Given the description of an element on the screen output the (x, y) to click on. 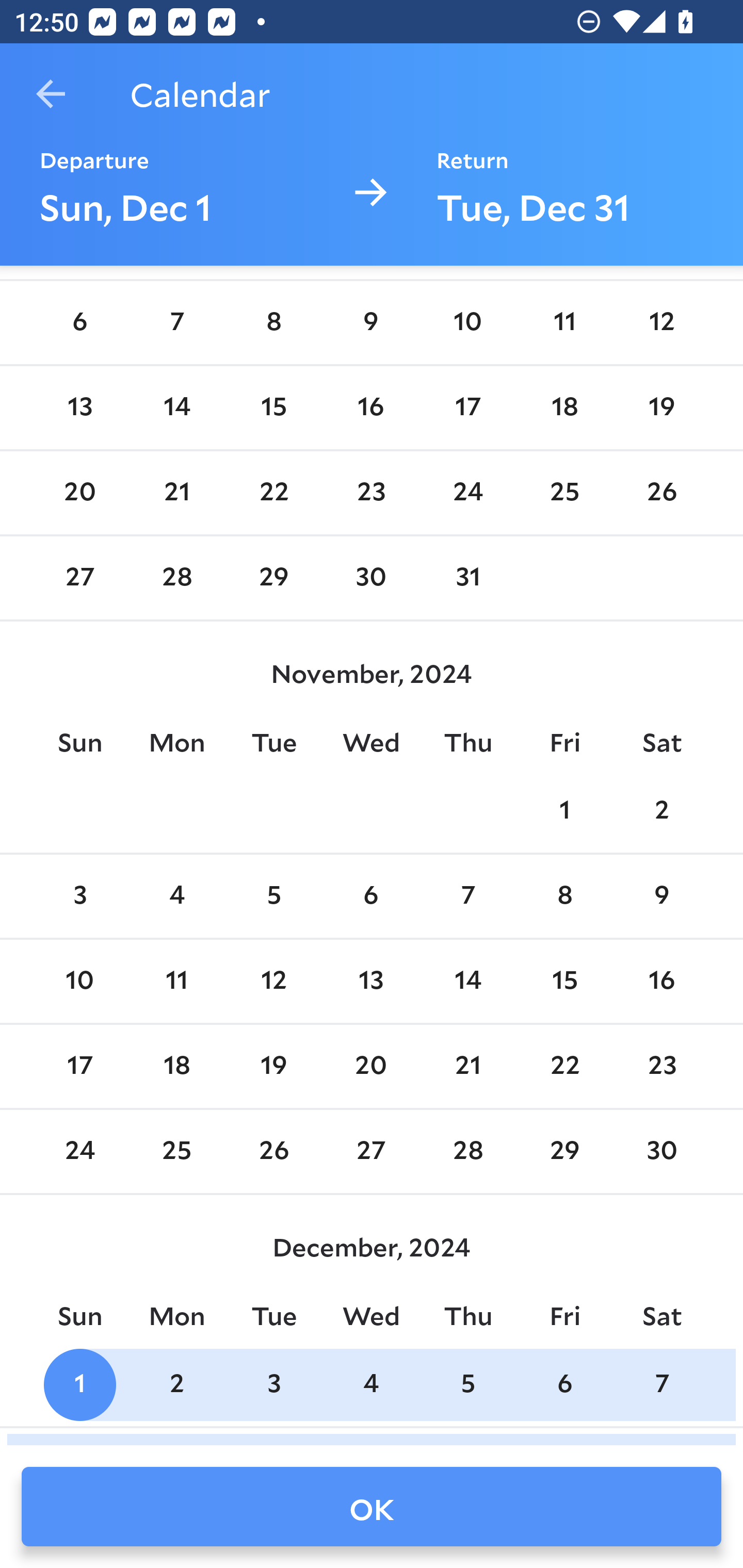
Navigate up (50, 93)
6 (79, 322)
7 (177, 322)
8 (273, 322)
9 (371, 322)
10 (467, 322)
11 (565, 322)
12 (661, 322)
13 (79, 407)
14 (177, 407)
15 (273, 407)
16 (371, 407)
17 (467, 407)
18 (565, 407)
19 (661, 407)
20 (79, 492)
21 (177, 492)
22 (273, 492)
23 (371, 492)
24 (467, 492)
25 (565, 492)
26 (661, 492)
27 (79, 578)
28 (177, 578)
29 (273, 578)
30 (371, 578)
31 (467, 578)
1 (565, 810)
2 (661, 810)
3 (79, 896)
4 (177, 896)
5 (273, 896)
6 (371, 896)
7 (467, 896)
8 (565, 896)
9 (661, 896)
10 (79, 981)
11 (177, 981)
12 (273, 981)
13 (371, 981)
14 (467, 981)
15 (565, 981)
16 (661, 981)
17 (79, 1066)
18 (177, 1066)
19 (273, 1066)
20 (371, 1066)
21 (467, 1066)
22 (565, 1066)
23 (661, 1066)
24 (79, 1152)
25 (177, 1152)
26 (273, 1152)
27 (371, 1152)
28 (467, 1152)
29 (565, 1152)
30 (661, 1152)
1 (79, 1384)
2 (177, 1384)
3 (273, 1384)
4 (371, 1384)
5 (467, 1384)
6 (565, 1384)
7 (661, 1384)
OK (371, 1506)
